Given the description of an element on the screen output the (x, y) to click on. 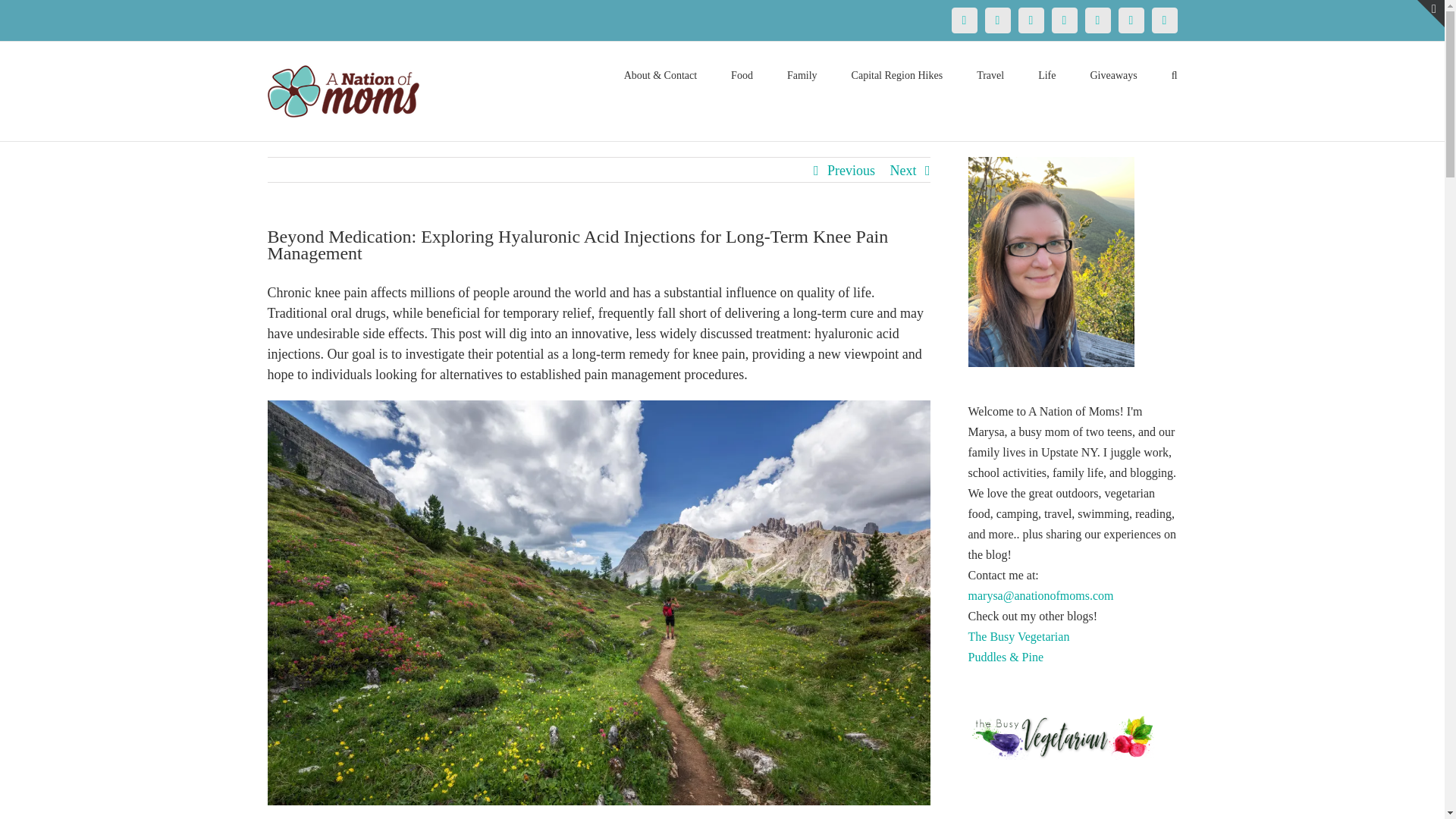
Twitter (997, 20)
Pinterest (1030, 20)
Twitter (997, 20)
Capital Region Hikes (897, 74)
Email (1163, 20)
Pinterest (1030, 20)
YouTube (1096, 20)
Facebook (963, 20)
Email (1163, 20)
Instagram (1064, 20)
